Given the description of an element on the screen output the (x, y) to click on. 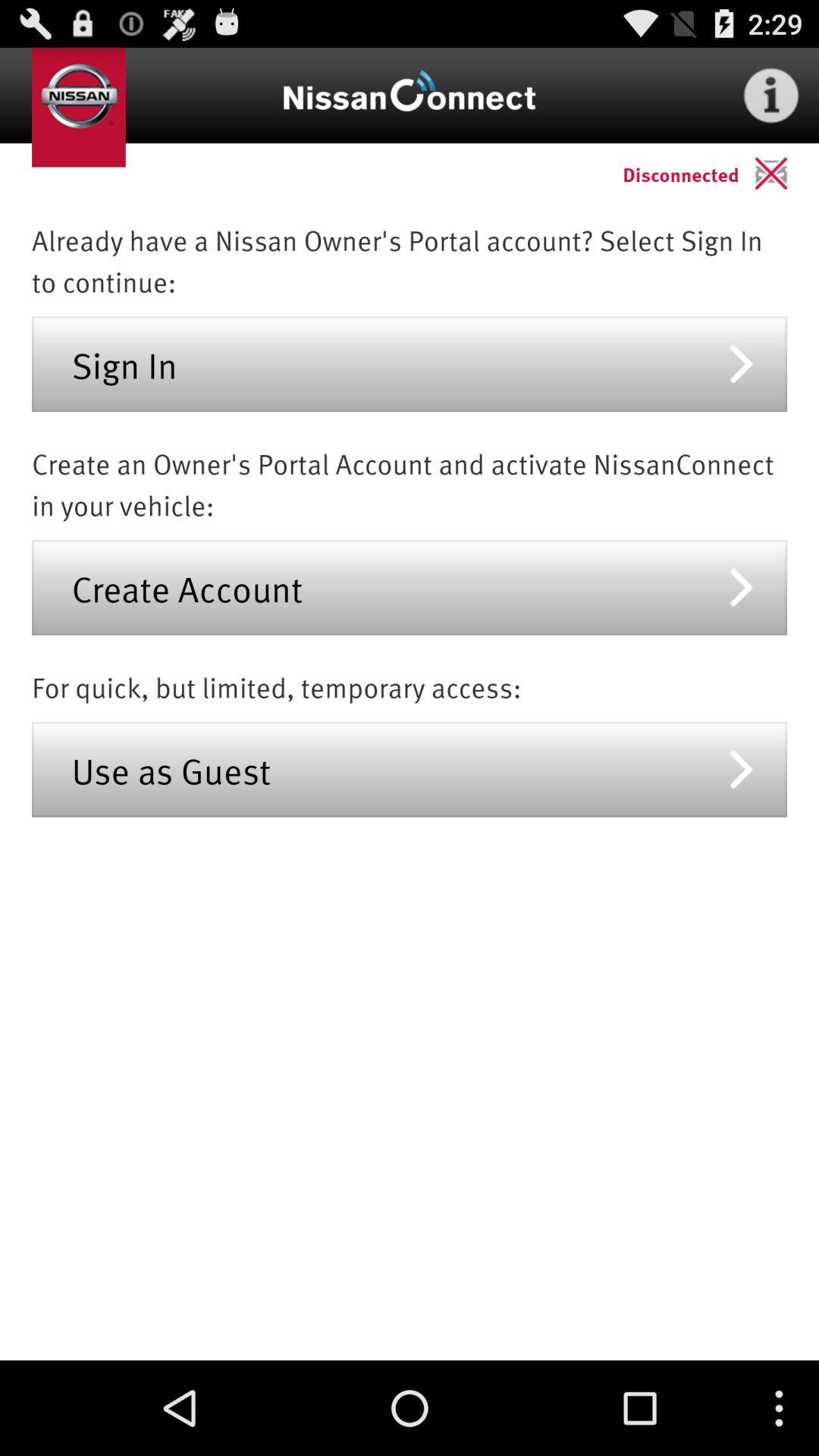
click item below the for quick but app (409, 769)
